Given the description of an element on the screen output the (x, y) to click on. 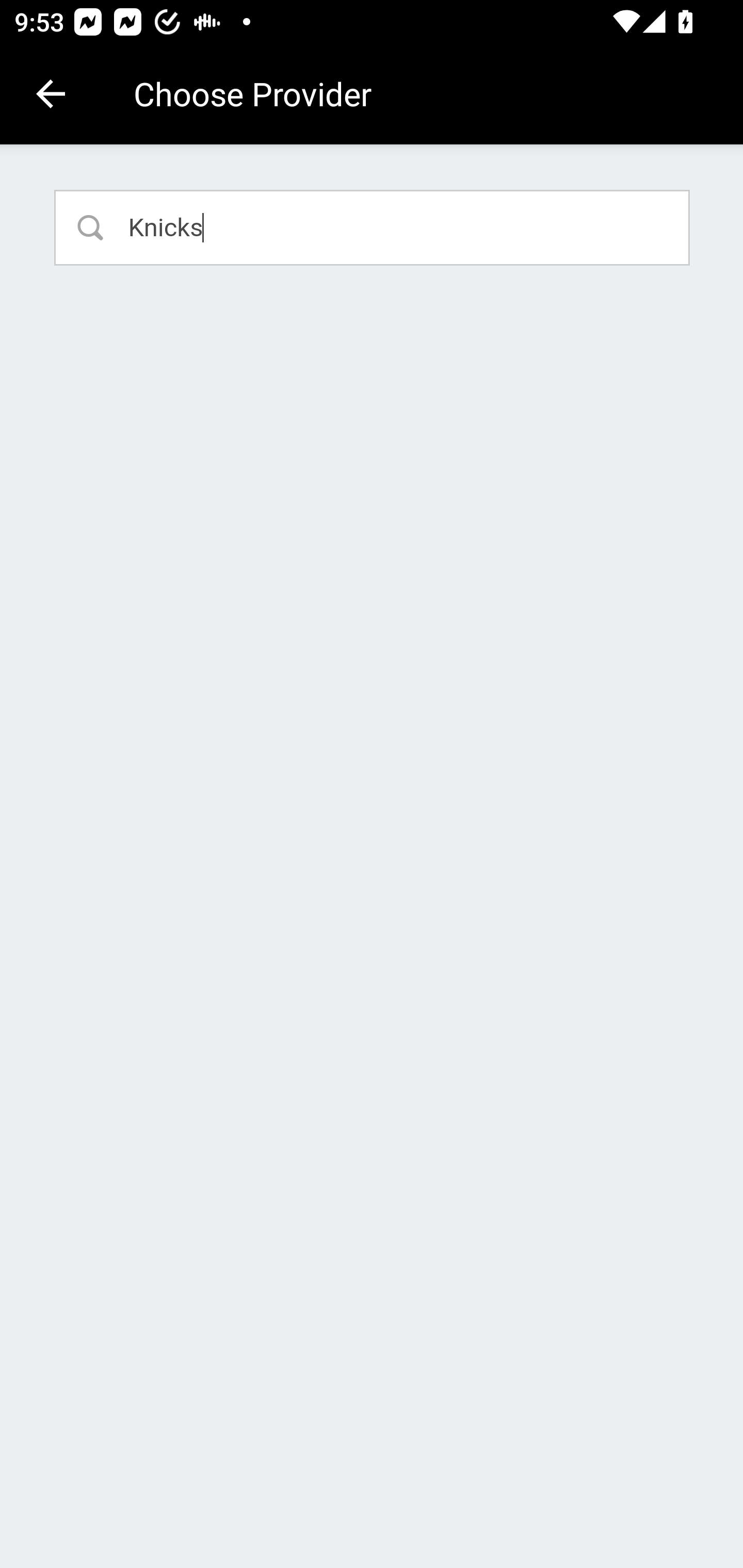
Navigate up (50, 93)
Knicks (372, 227)
